Given the description of an element on the screen output the (x, y) to click on. 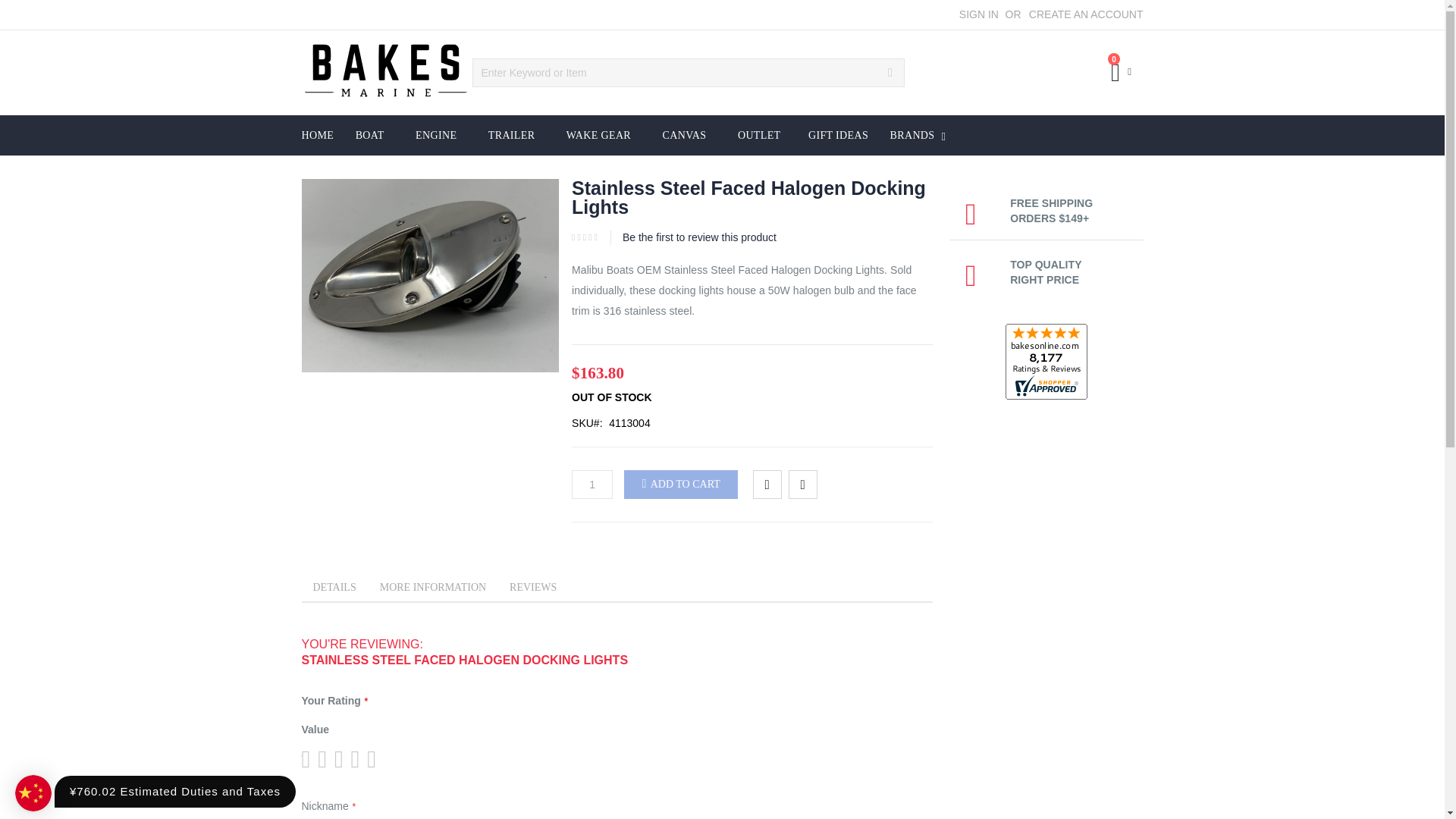
Bakes Marine Center (385, 72)
ENGINE (438, 135)
HOME (317, 135)
1 (592, 484)
CREATE AN ACCOUNT (1085, 14)
SIGN IN (978, 14)
